Given the description of an element on the screen output the (x, y) to click on. 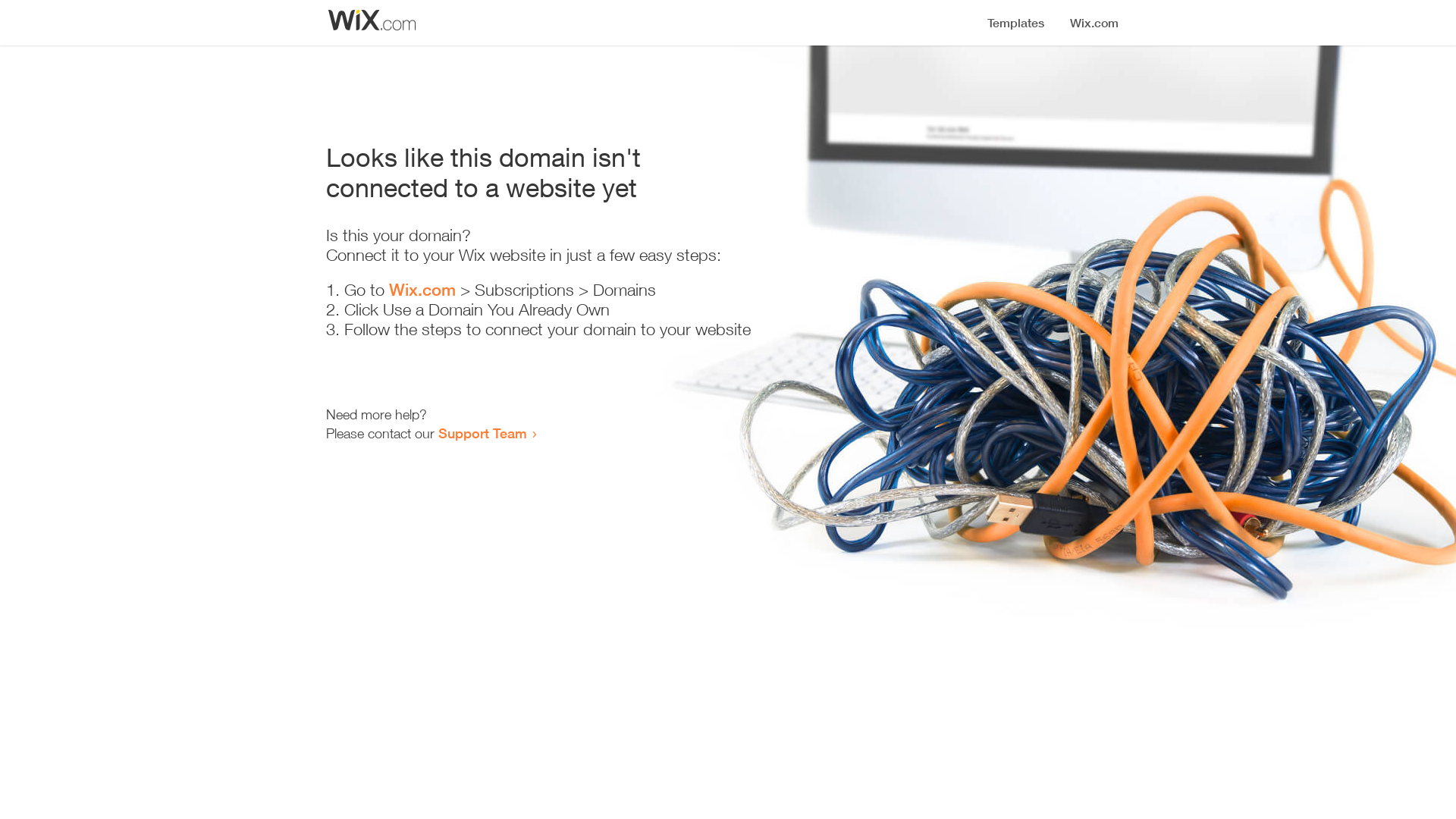
Support Team Element type: text (482, 432)
Wix.com Element type: text (422, 289)
